Given the description of an element on the screen output the (x, y) to click on. 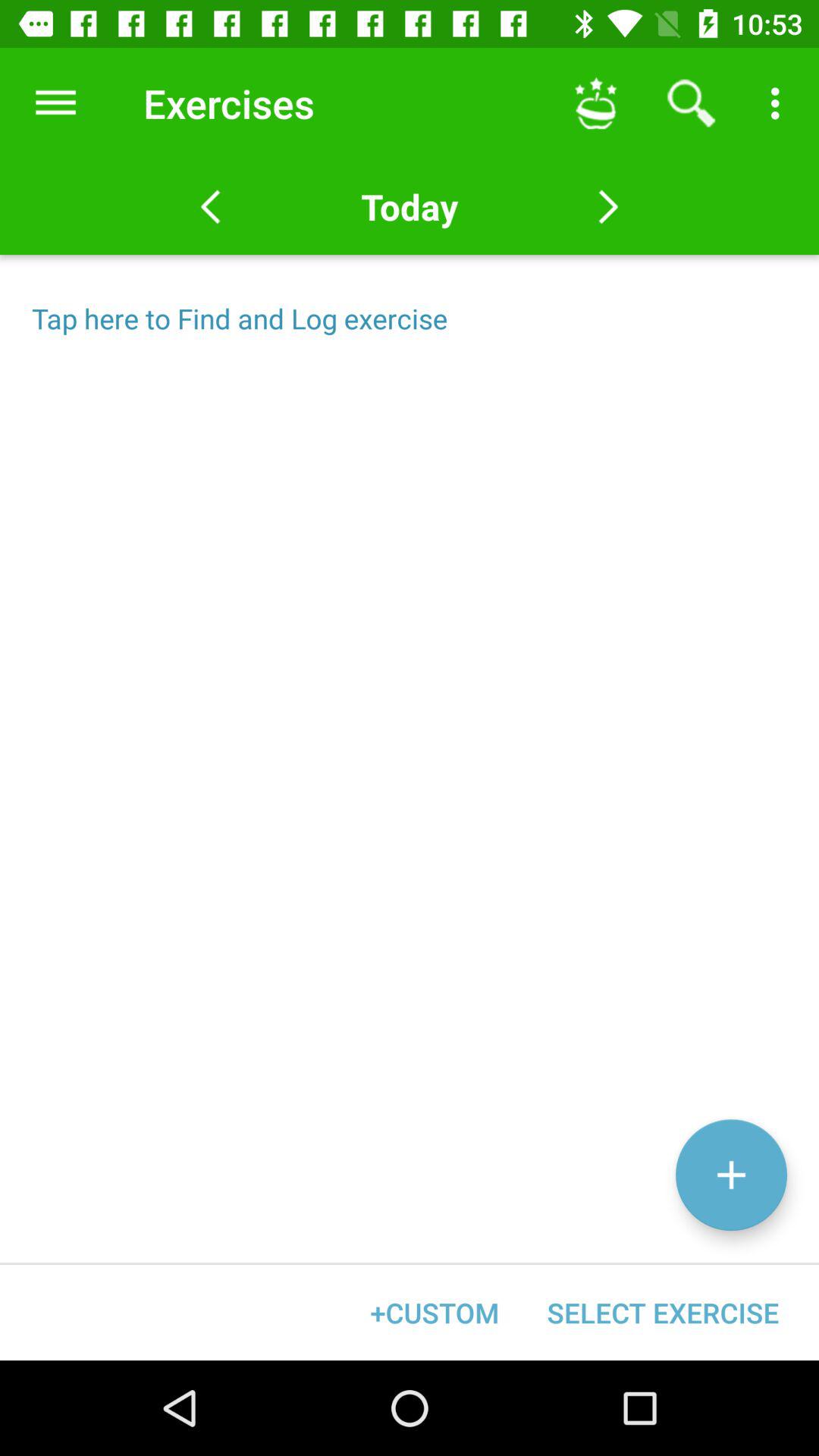
turn off the item above tap here to icon (409, 206)
